Given the description of an element on the screen output the (x, y) to click on. 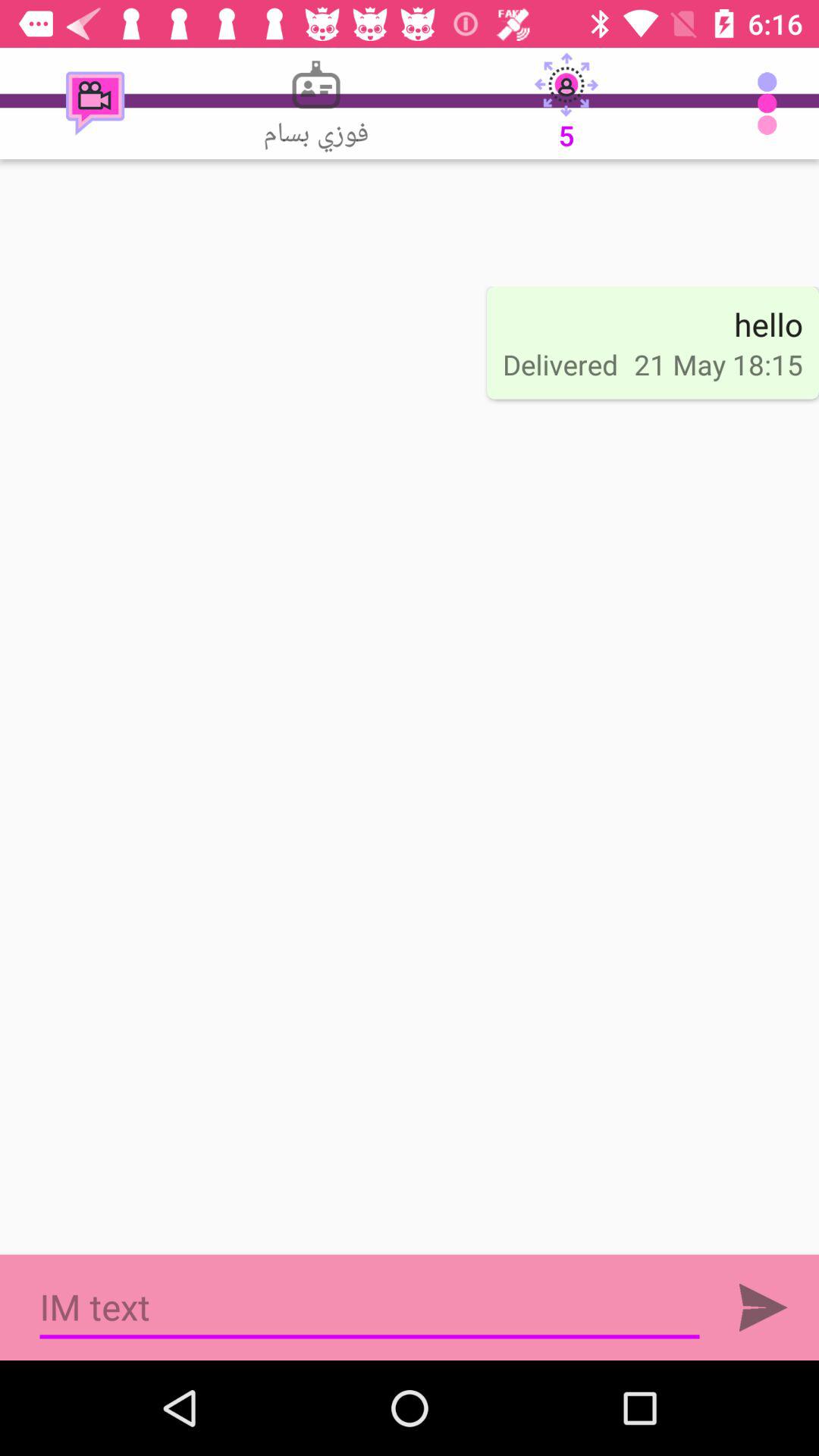
scroll to the 21 may 18 icon (718, 364)
